Given the description of an element on the screen output the (x, y) to click on. 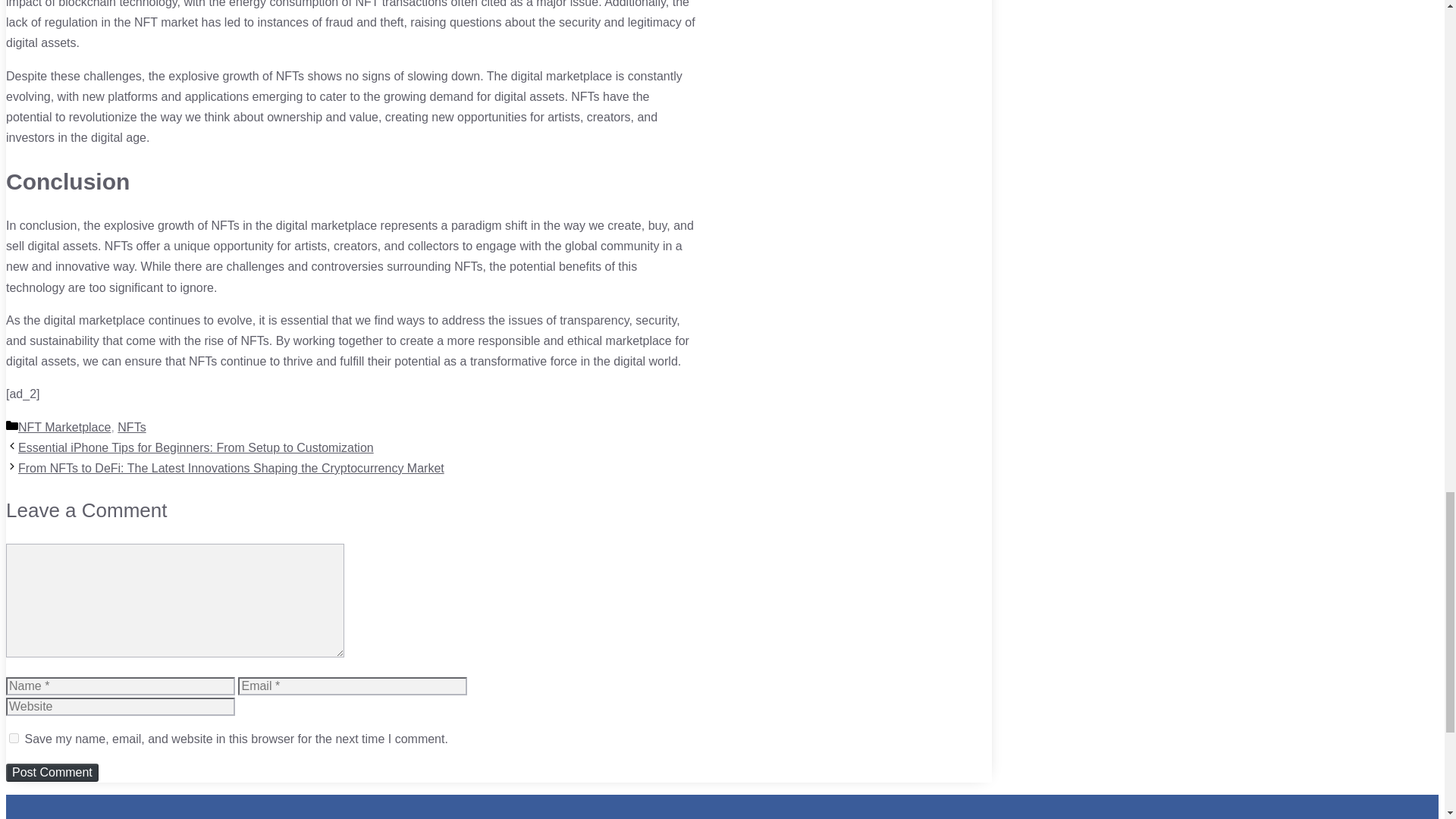
Post Comment (52, 772)
yes (13, 737)
Post Comment (52, 772)
NFTs (131, 427)
NFT Marketplace (63, 427)
